Given the description of an element on the screen output the (x, y) to click on. 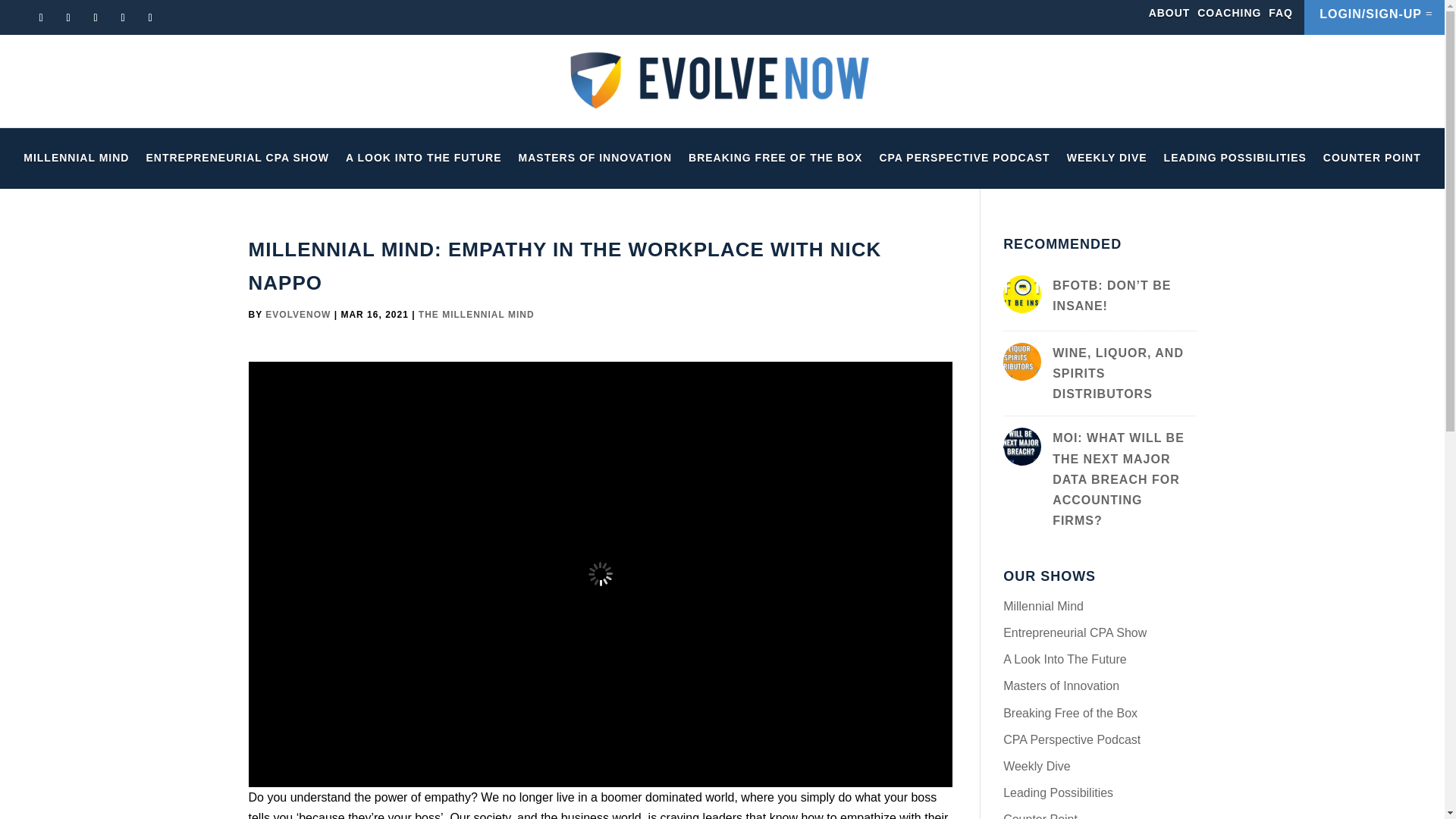
MASTERS OF INNOVATION (594, 161)
EVOLVENOW (297, 314)
COACHING (1228, 12)
ENTREPRENEURIAL CPA SHOW (237, 161)
MILLENNIAL MIND (76, 161)
WINE, LIQUOR, AND SPIRITS DISTRIBUTORS (1117, 373)
CPA PERSPECTIVE PODCAST (964, 161)
Follow on Youtube (68, 17)
FAQ (1280, 12)
Follow on Instagram (122, 17)
